Given the description of an element on the screen output the (x, y) to click on. 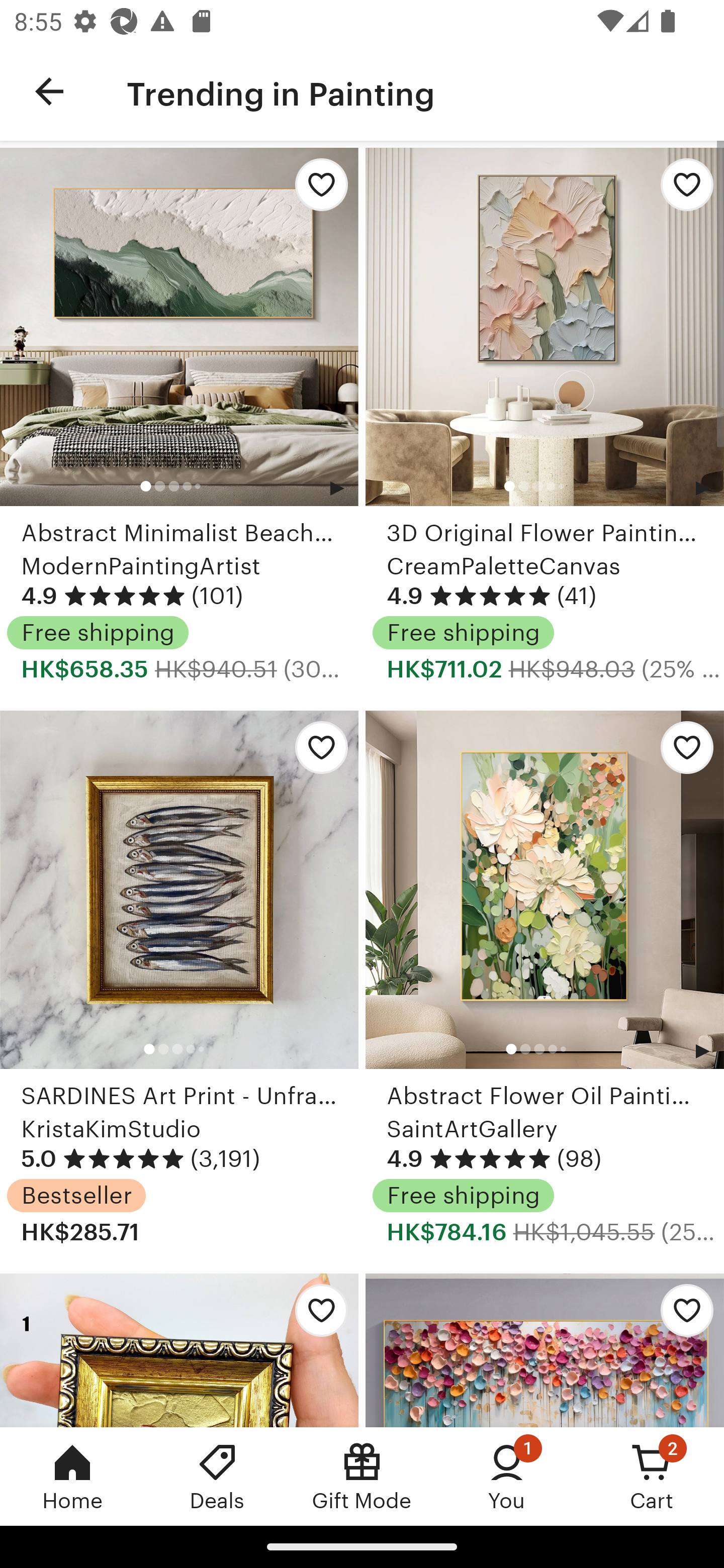
Navigate up (49, 91)
Deals (216, 1475)
Gift Mode (361, 1475)
You, 1 new notification You (506, 1475)
Cart, 2 new notifications Cart (651, 1475)
